Given the description of an element on the screen output the (x, y) to click on. 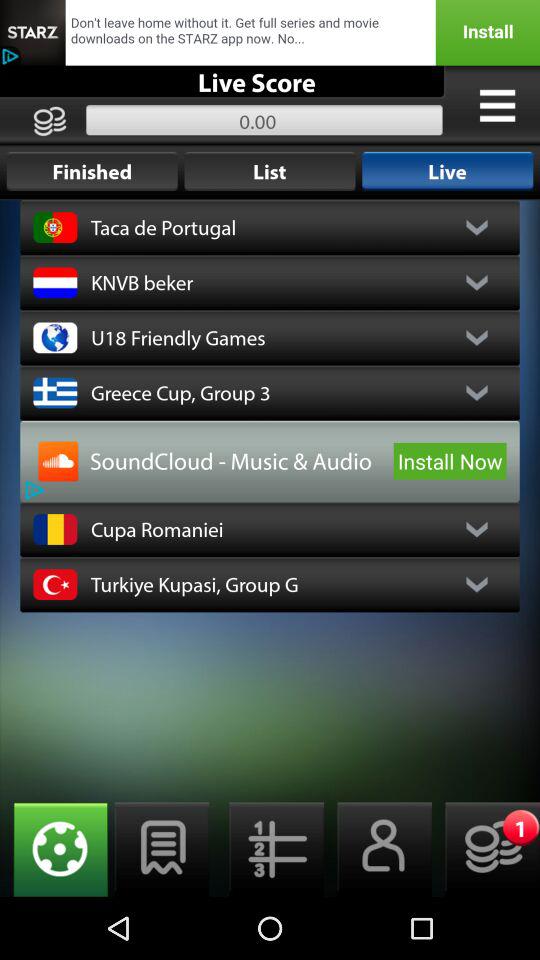
sound (58, 461)
